Given the description of an element on the screen output the (x, y) to click on. 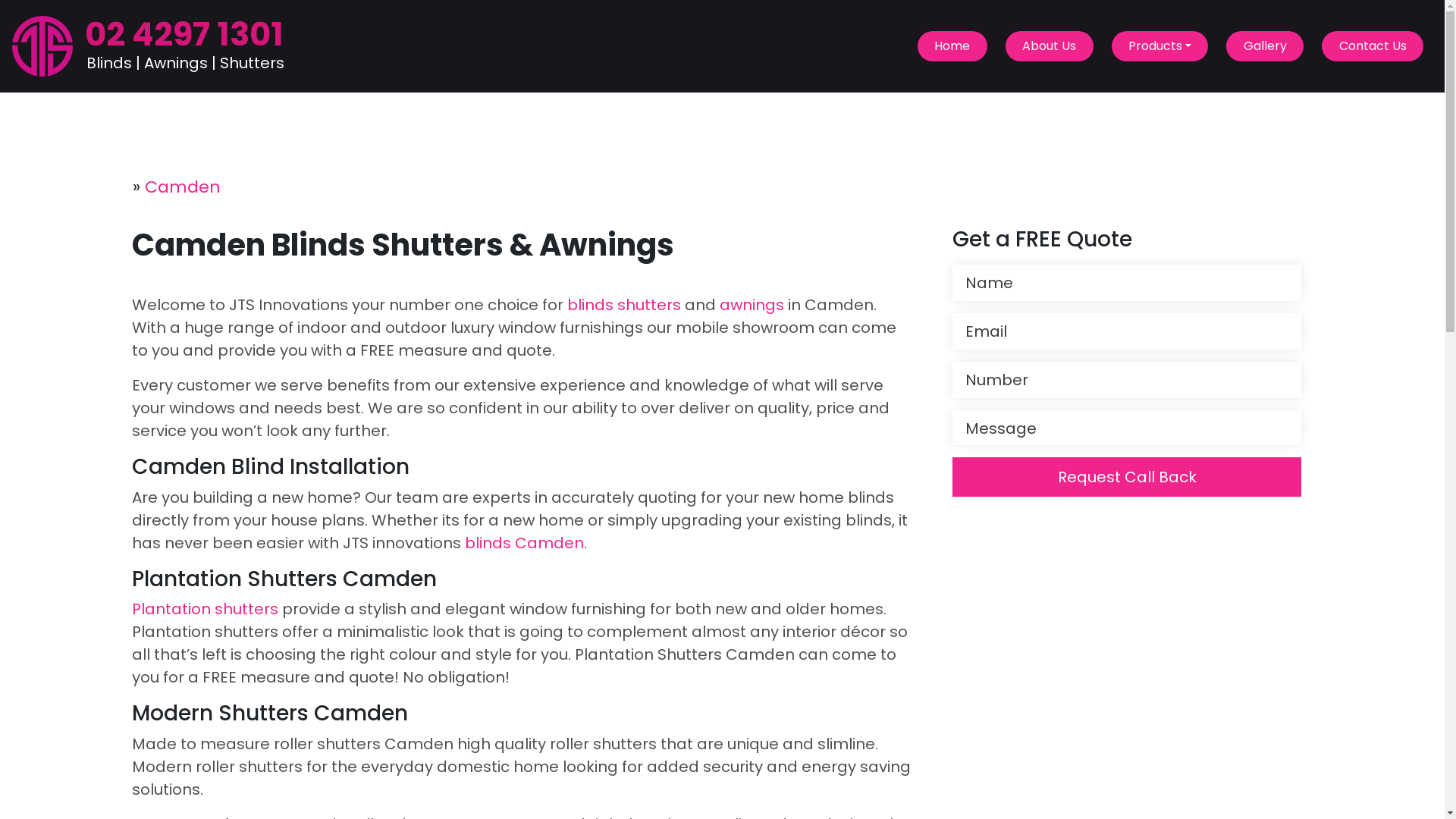
Camden Element type: text (182, 186)
Products Element type: text (1159, 46)
Contact Us Element type: text (1372, 46)
Gallery Element type: text (1264, 46)
Home Element type: text (952, 46)
About Us Element type: text (1049, 46)
02 4297 1301 Element type: text (183, 33)
